Given the description of an element on the screen output the (x, y) to click on. 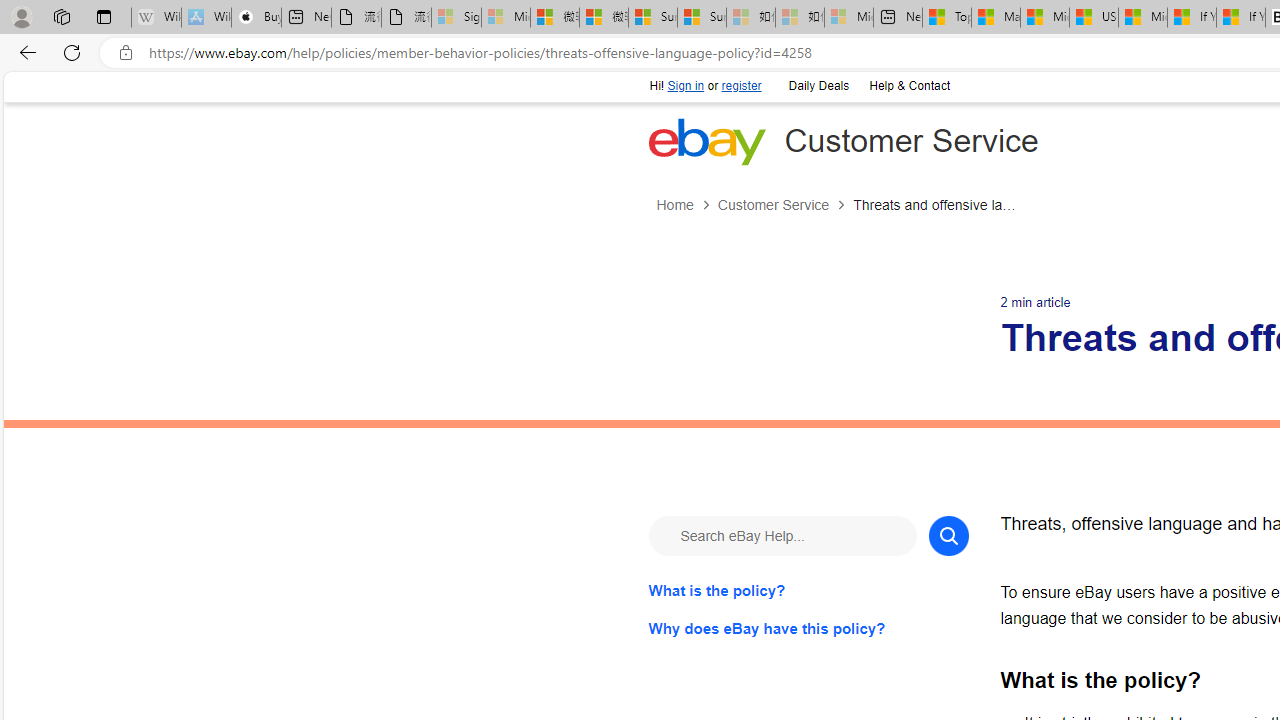
Daily Deals (817, 84)
Search eBay Help... (781, 534)
Why does eBay have this policy? (807, 628)
What is the policy? (807, 589)
Help & Contact (907, 84)
Why does eBay have this policy? (807, 628)
